Given the description of an element on the screen output the (x, y) to click on. 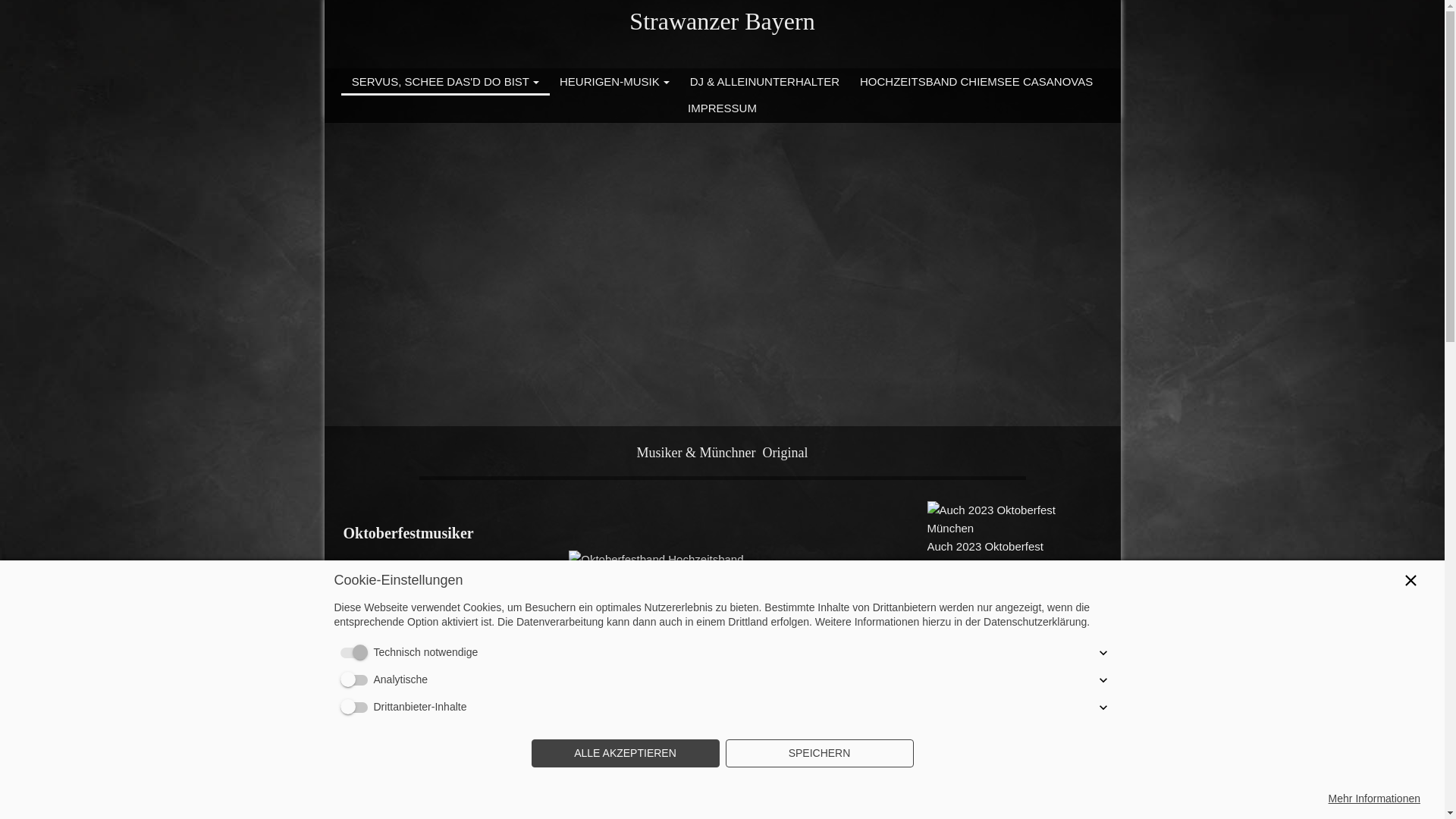
IMPRESSUM Element type: text (722, 107)
SPEICHERN Element type: text (818, 753)
SERVUS, SCHEE DAS'D DO BIST Element type: text (445, 81)
Mehr Informationen Element type: text (1374, 798)
STRAWANZER BAYERN, OKTOBERFESTBAND, CHIEMSEE, FRAUENINSEL, Element type: hover (728, 608)
HEURIGEN-MUSIK Element type: text (614, 81)
ALLE AKZEPTIEREN Element type: text (624, 753)
HOCHZEITSBAND CHIEMSEE CASANOVAS Element type: text (975, 81)
DJ & ALLEINUNTERHALTER Element type: text (764, 81)
Oktoberfestband Hochzeitsband Element type: hover (728, 559)
